Given the description of an element on the screen output the (x, y) to click on. 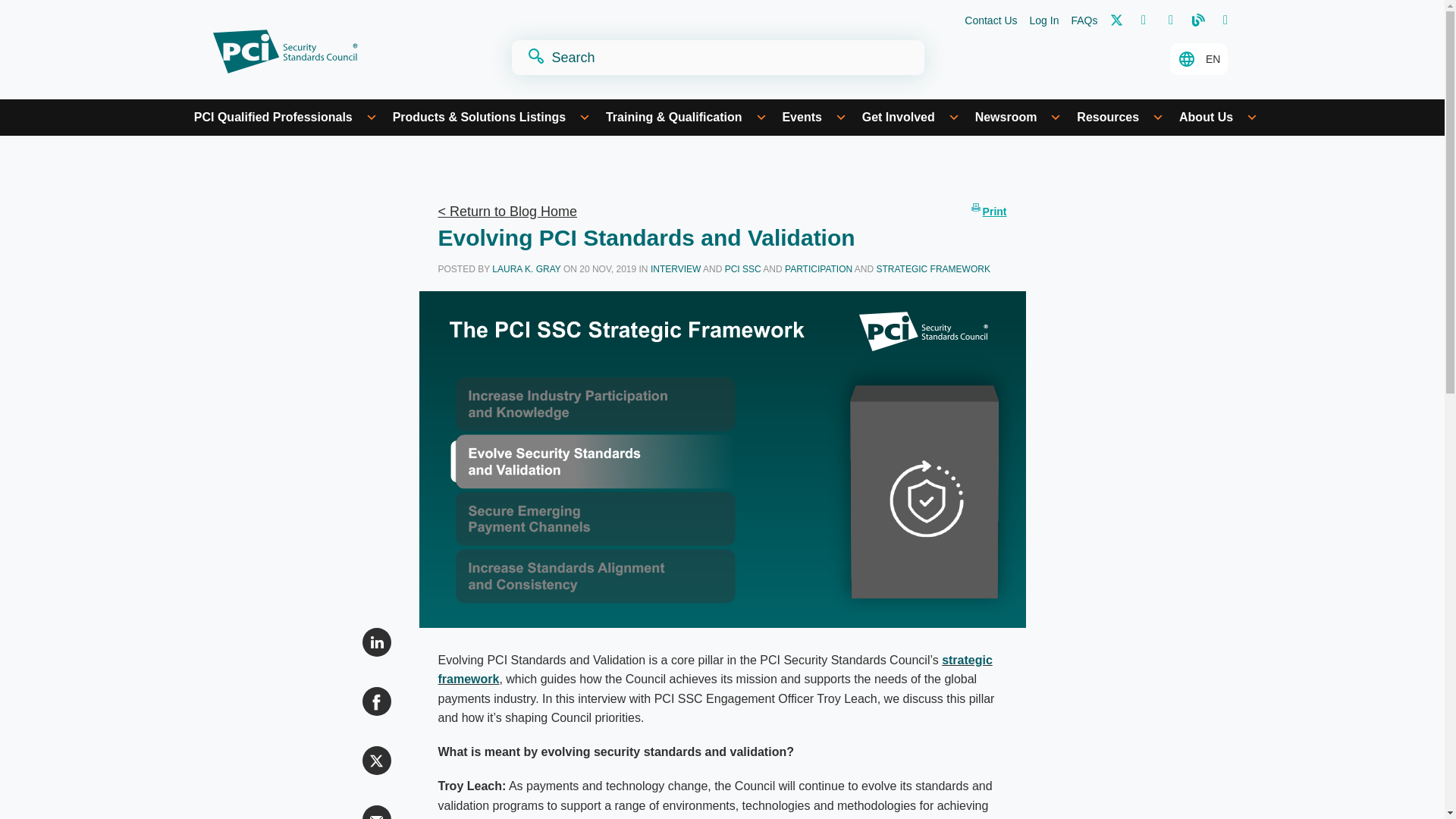
PCI Qualified Professionals (285, 117)
Contact Us (989, 20)
EN (1198, 59)
Share (376, 701)
Share (376, 642)
Share (376, 760)
